Given the description of an element on the screen output the (x, y) to click on. 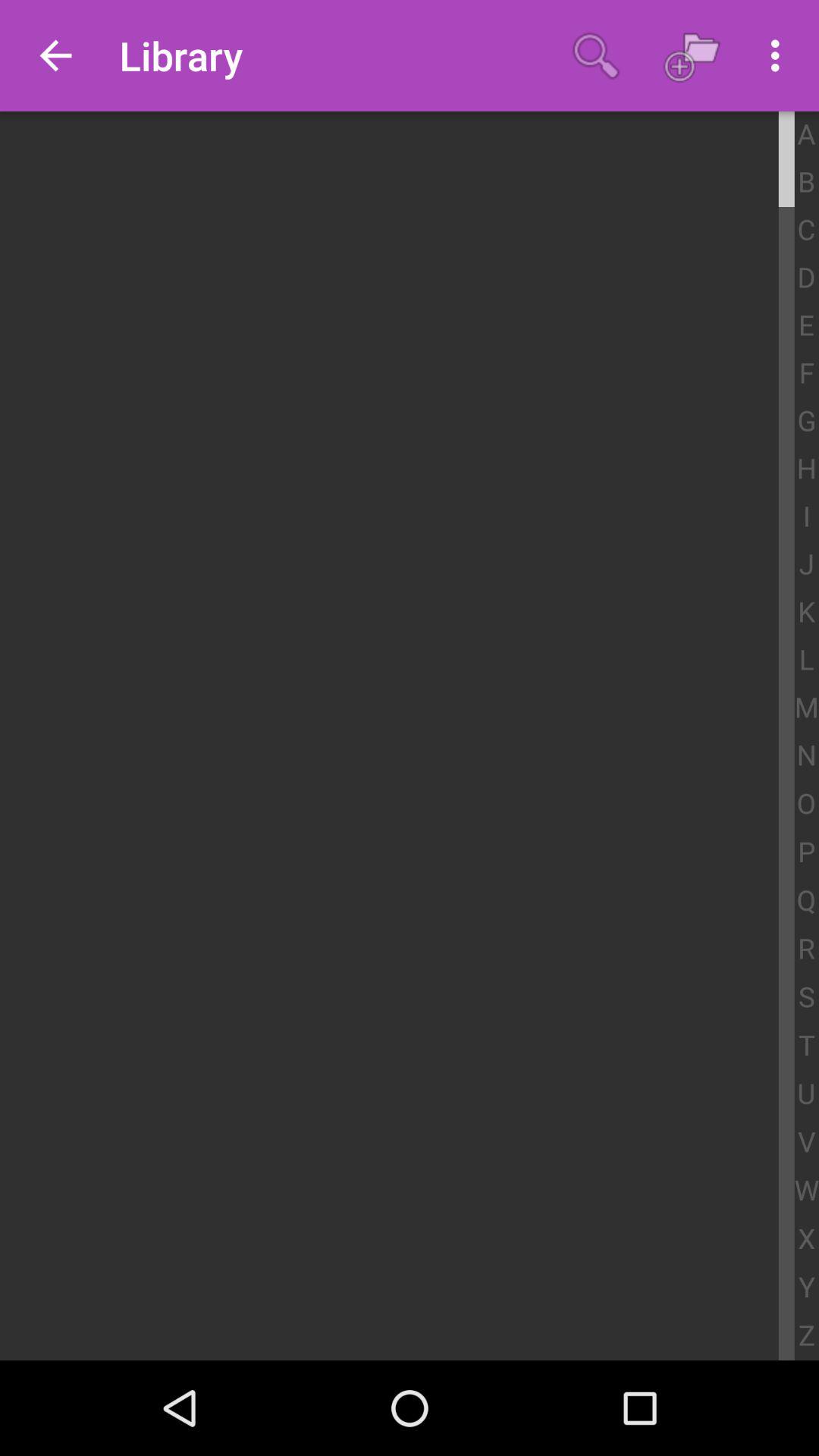
open icon next to the library (595, 55)
